Given the description of an element on the screen output the (x, y) to click on. 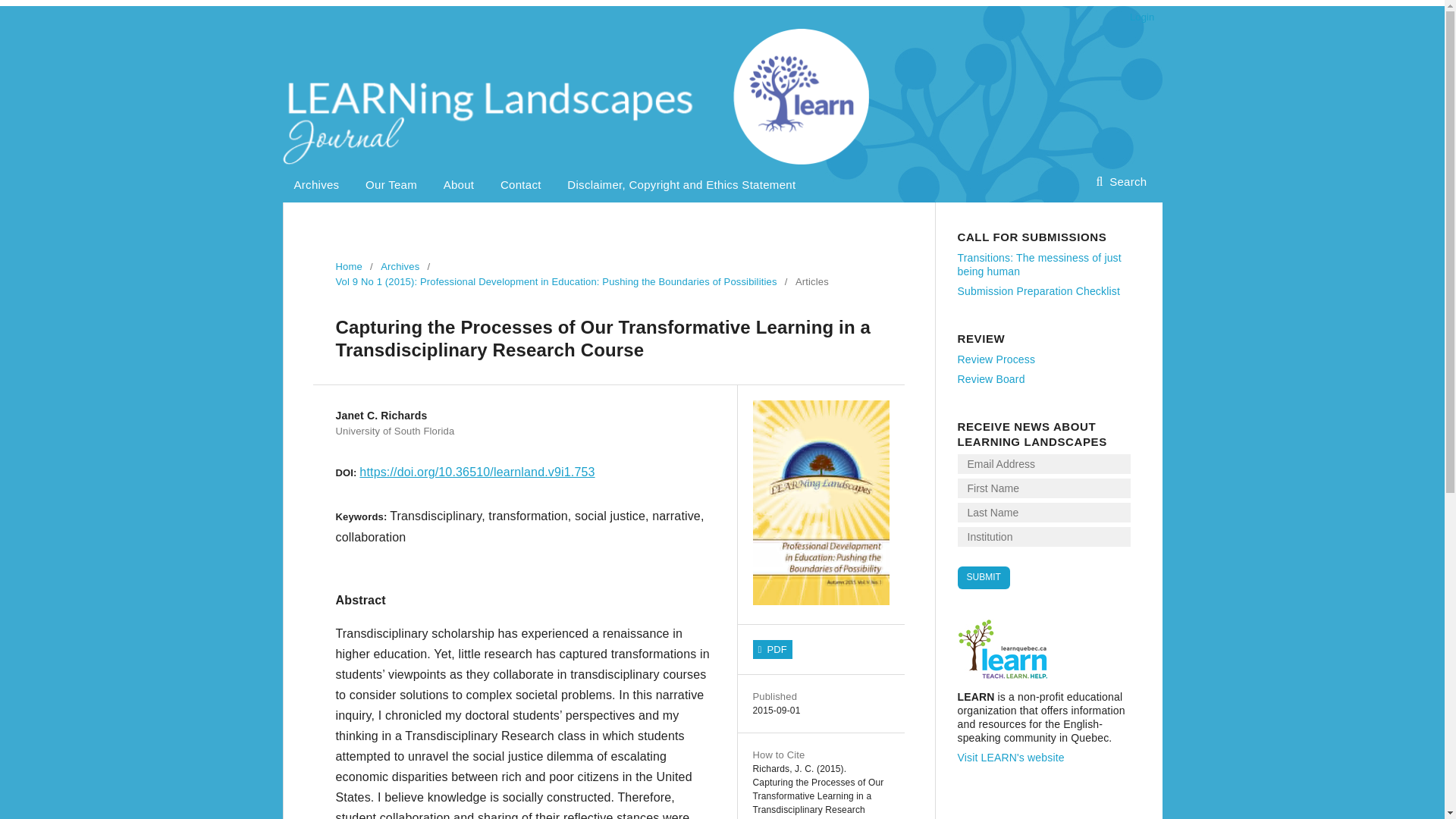
Disclaimer, Copyright and Ethics Statement (680, 184)
Visit LEARN's website (1010, 757)
Archives (316, 184)
Our Team (390, 184)
Archives (399, 266)
PDF (772, 649)
Login (1138, 16)
Review Process (995, 358)
submit (982, 577)
Review Board (990, 378)
